Given the description of an element on the screen output the (x, y) to click on. 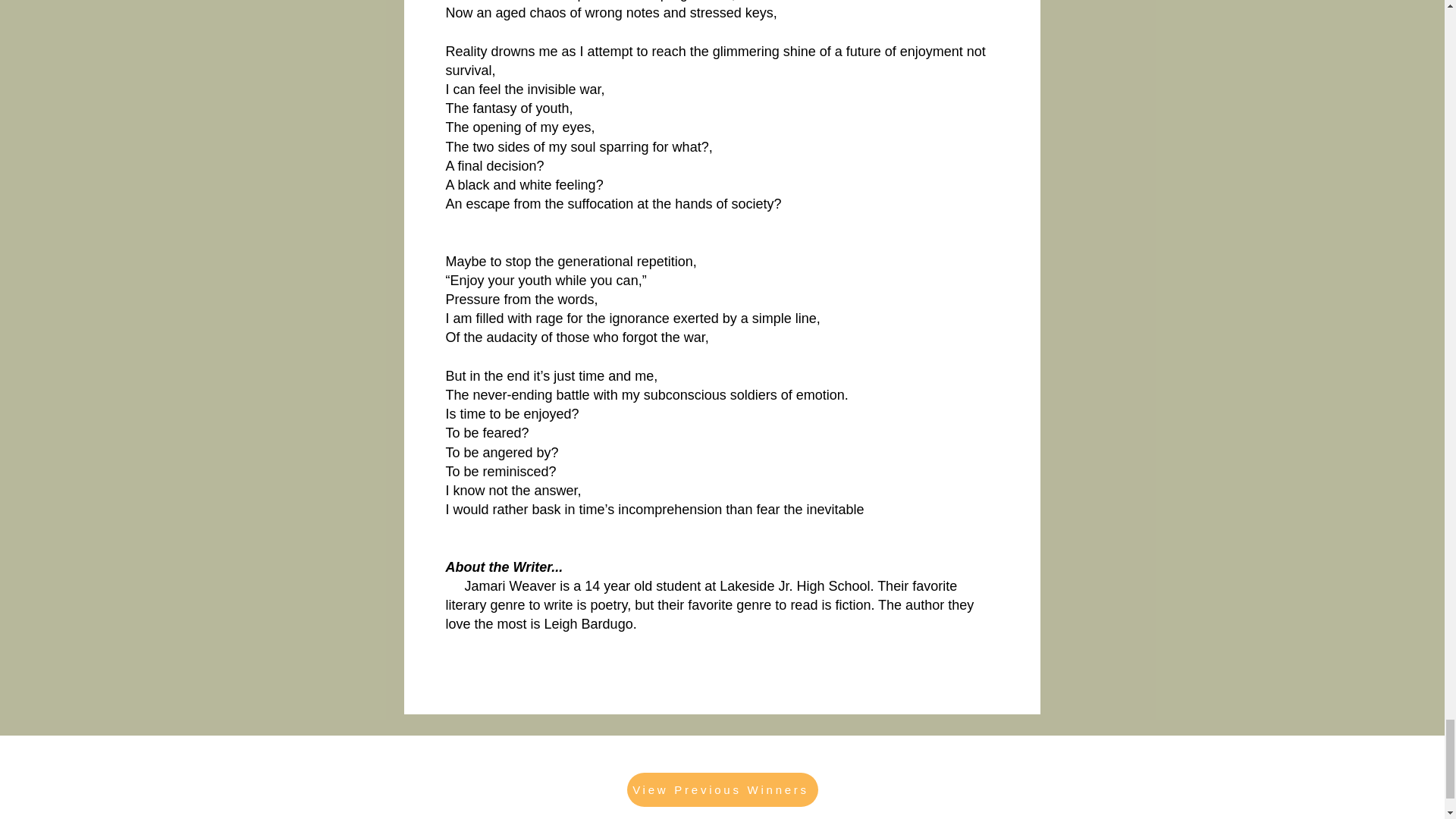
View Previous Winners (721, 789)
